Given the description of an element on the screen output the (x, y) to click on. 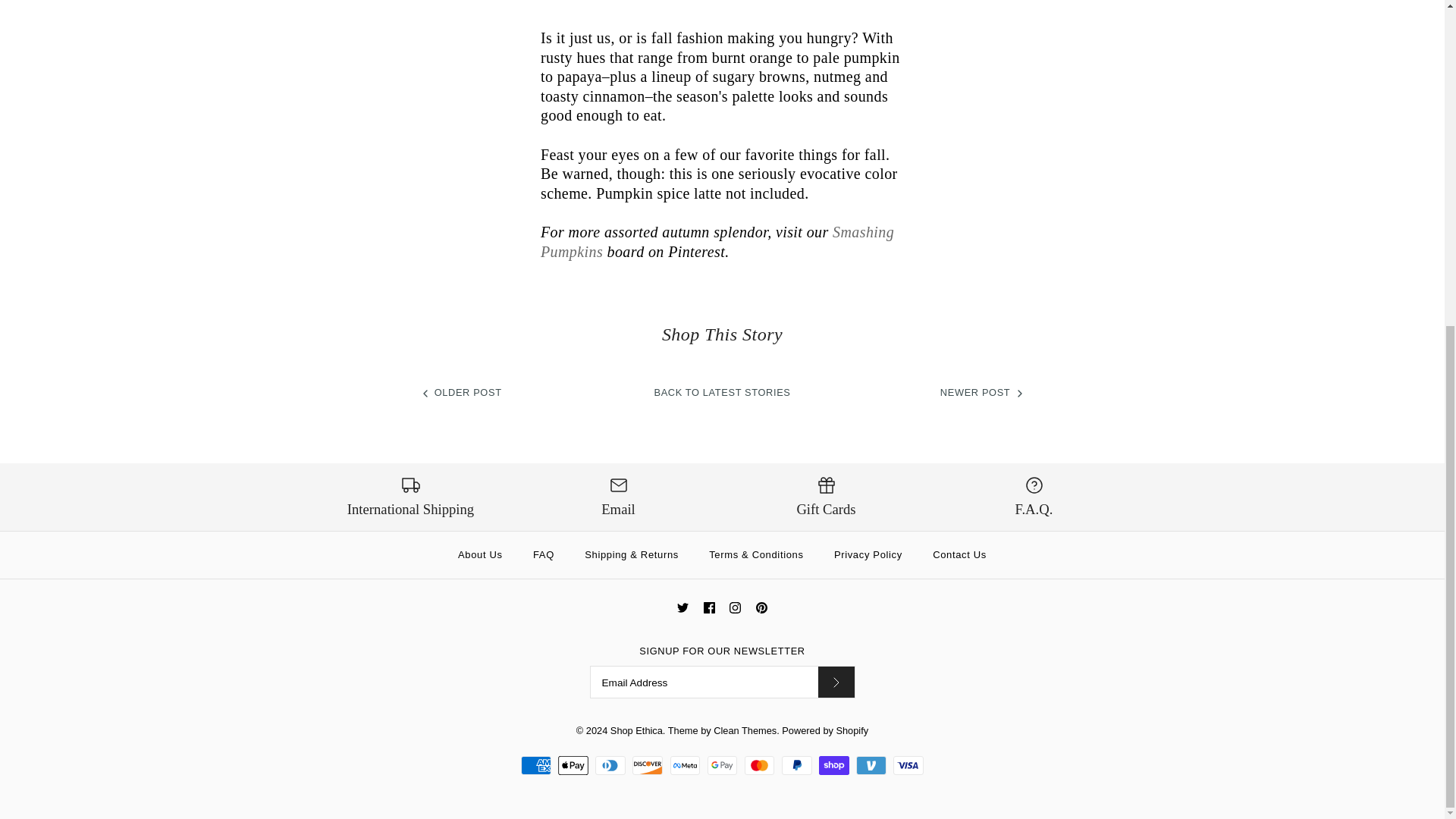
OLDER POST (459, 391)
BACK TO LATEST STORIES (721, 392)
Pinterest (761, 607)
Twitter (682, 607)
Facebook (708, 607)
NEWER POST (983, 391)
Email (617, 496)
Smashing Pumpkins (716, 241)
Gift Cards (825, 496)
Instagram (735, 607)
